Given the description of an element on the screen output the (x, y) to click on. 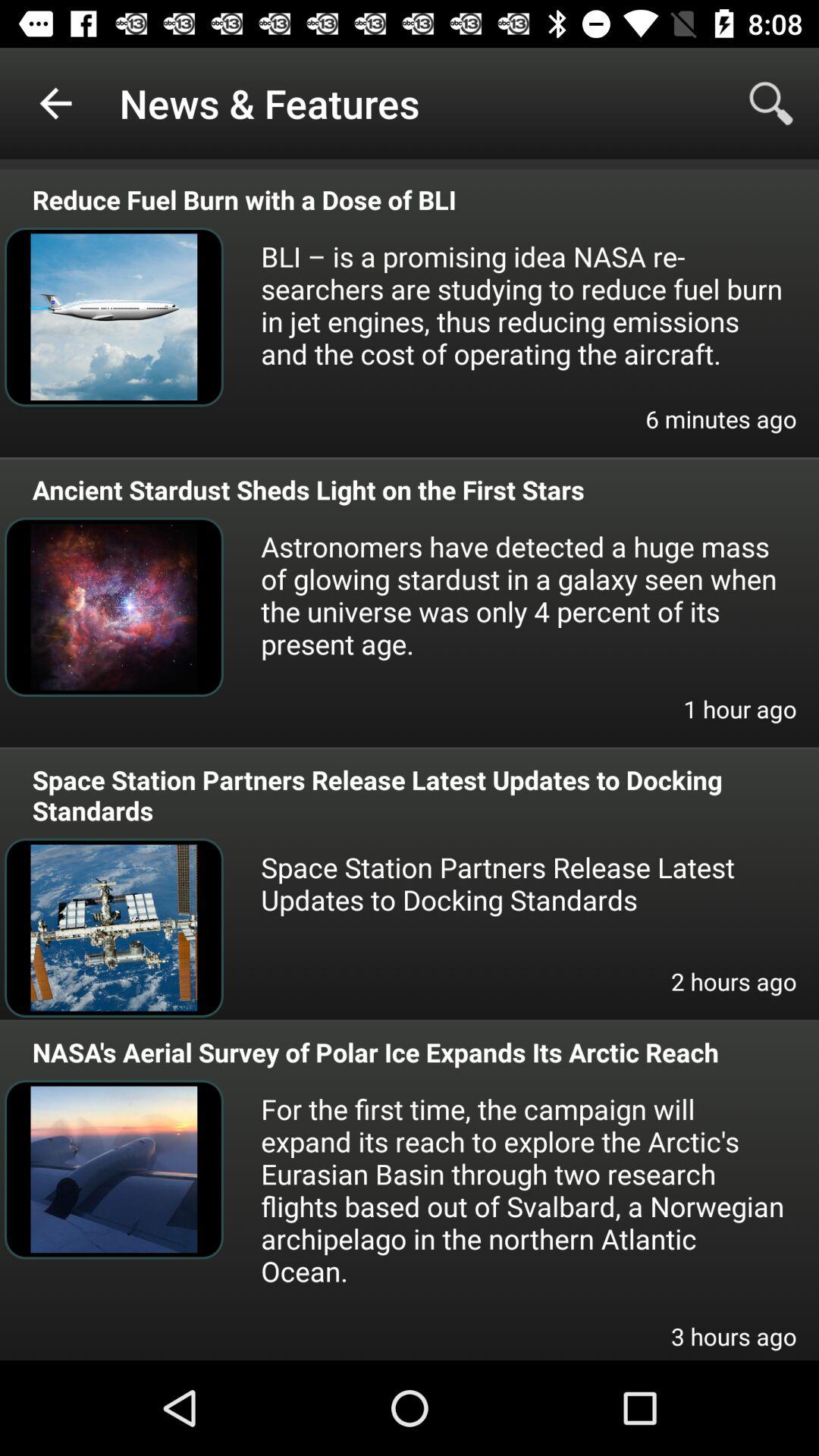
launch item above the ancient stardust sheds icon (720, 428)
